Given the description of an element on the screen output the (x, y) to click on. 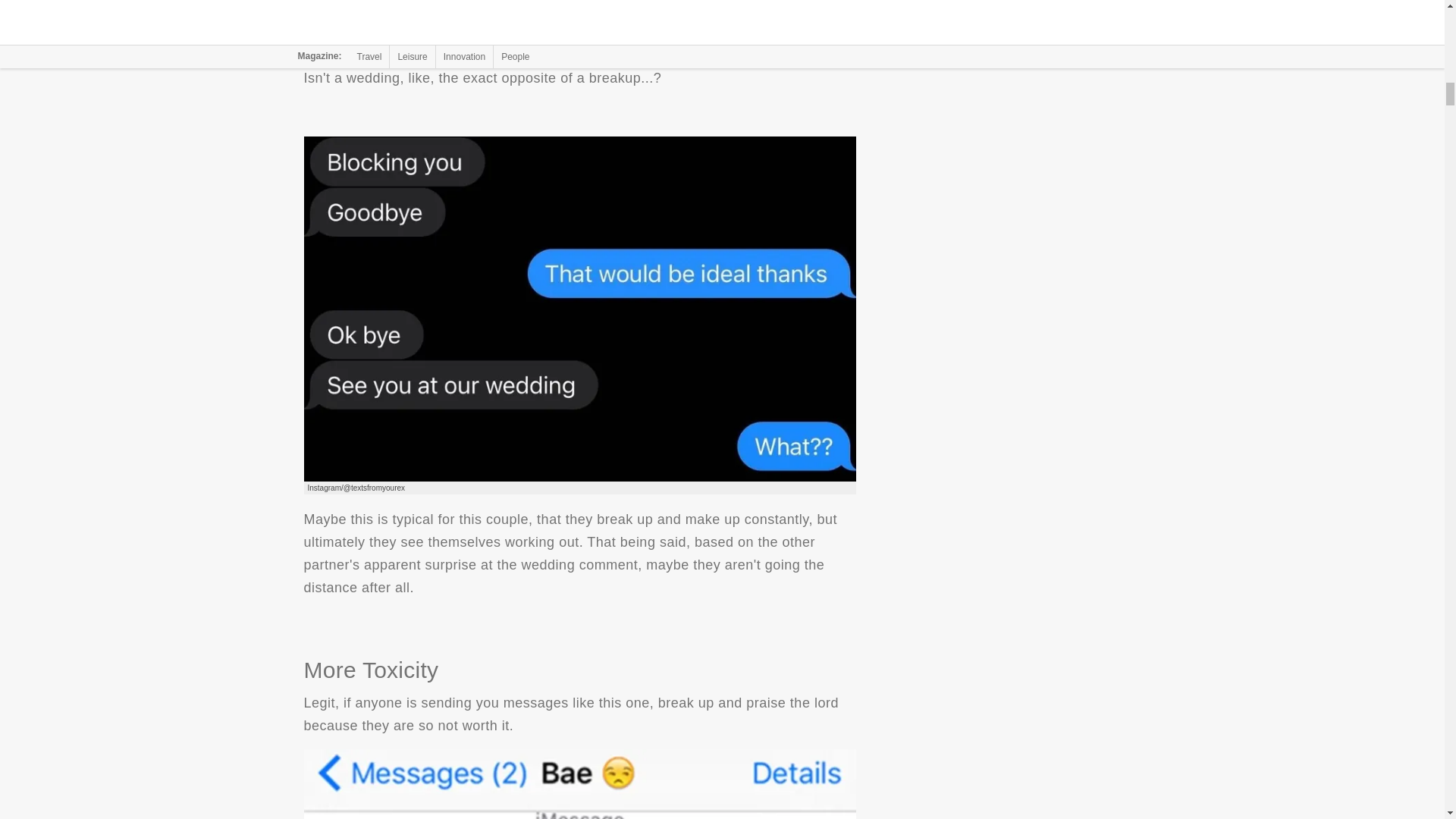
More Toxicity (579, 784)
